Given the description of an element on the screen output the (x, y) to click on. 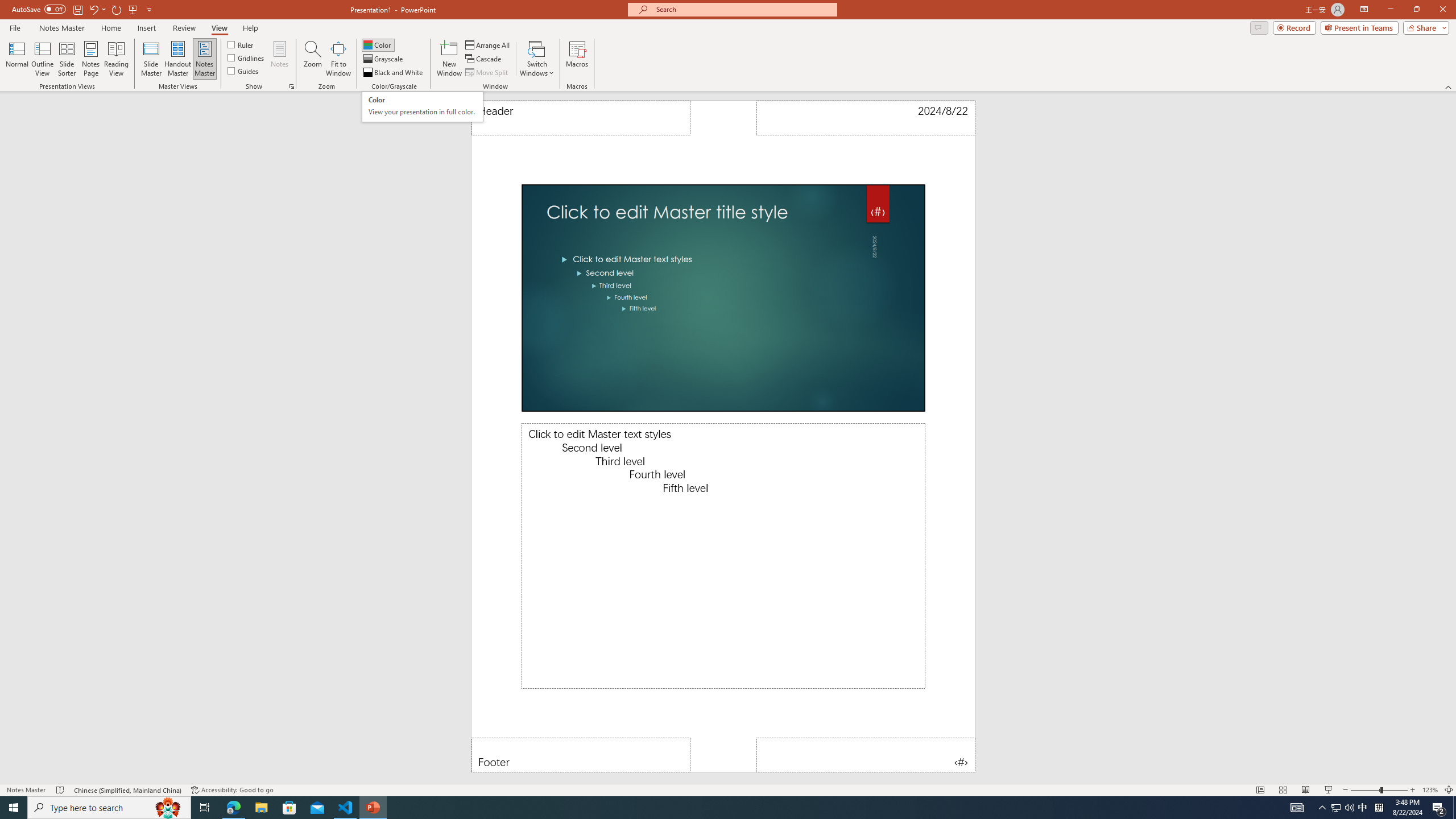
Move Split (487, 72)
Arrange All (488, 44)
Slide Master (151, 58)
Page Number (866, 754)
Handout Master (177, 58)
